Given the description of an element on the screen output the (x, y) to click on. 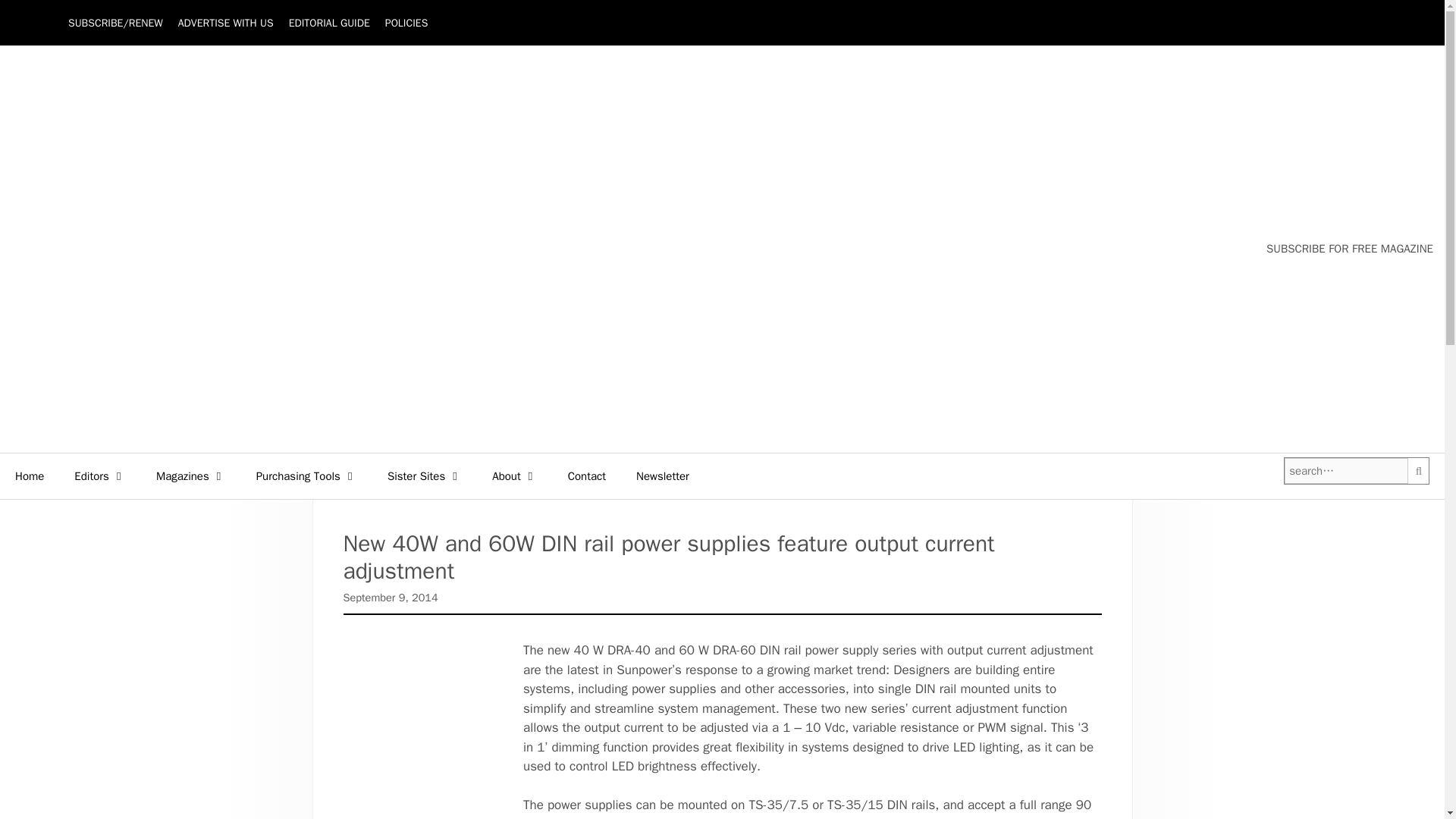
Editors (100, 475)
Contact (587, 475)
Purchasing Tools (306, 475)
About (514, 475)
EDITORIAL GUIDE (328, 22)
POLICIES (406, 22)
SUBSCRIBE FOR FREE MAGAZINE (1349, 248)
Newsletter (662, 475)
Magazines (191, 475)
ADVERTISE WITH US (225, 22)
